Given the description of an element on the screen output the (x, y) to click on. 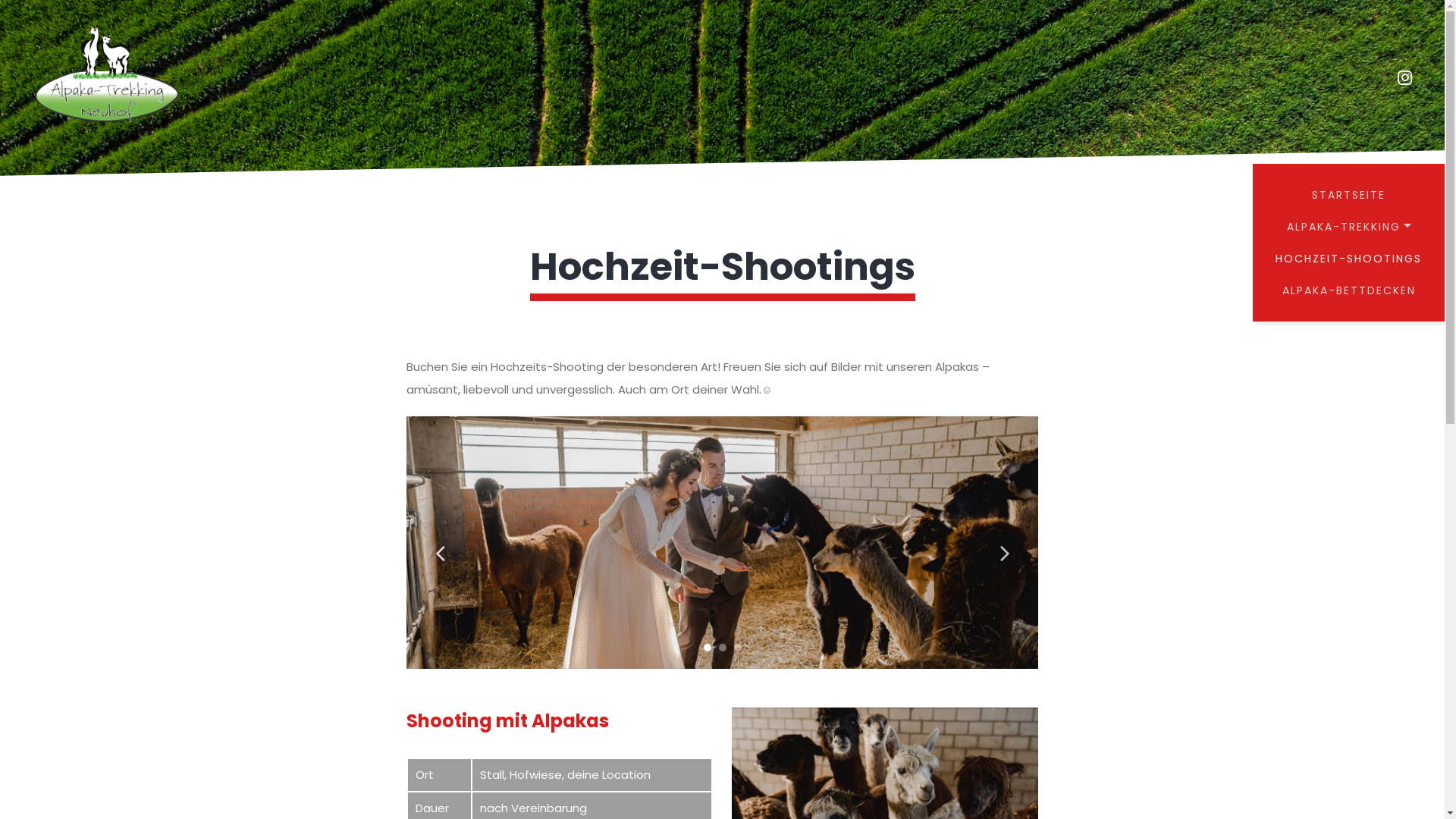
1 Element type: text (707, 647)
STARTSEITE Element type: text (1348, 194)
ALPAKA-BETTDECKEN Element type: text (1348, 290)
Neuhof Element type: hover (106, 77)
HOCHZEIT-SHOOTINGS Element type: text (1348, 258)
2 Element type: text (722, 647)
3 Element type: text (737, 647)
